Given the description of an element on the screen output the (x, y) to click on. 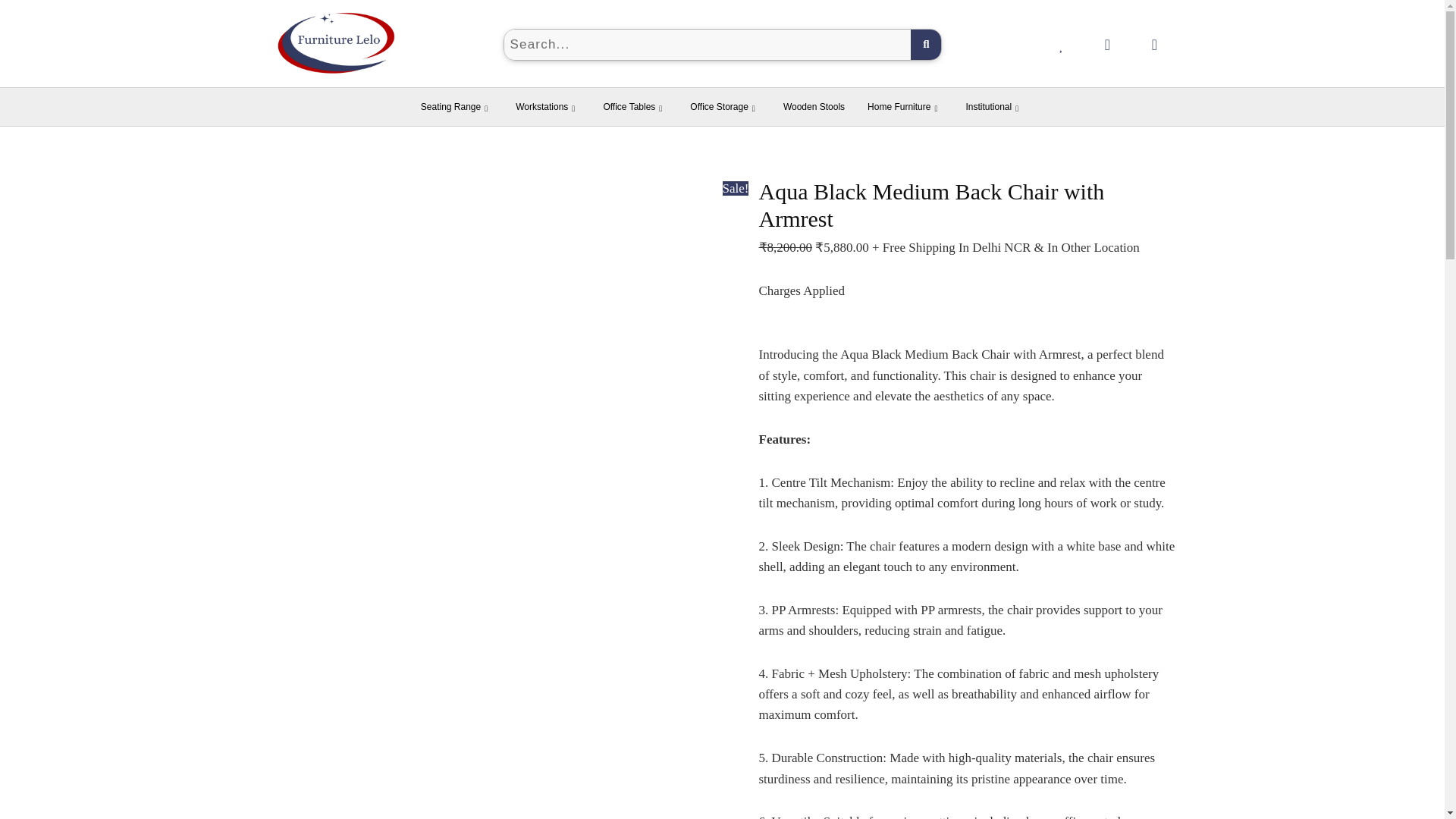
Wooden Stools (813, 106)
Office Tables (634, 106)
Office Storage (724, 106)
Home Furniture (904, 106)
Search (707, 44)
Workstations (547, 106)
Seating Range (456, 106)
